Given the description of an element on the screen output the (x, y) to click on. 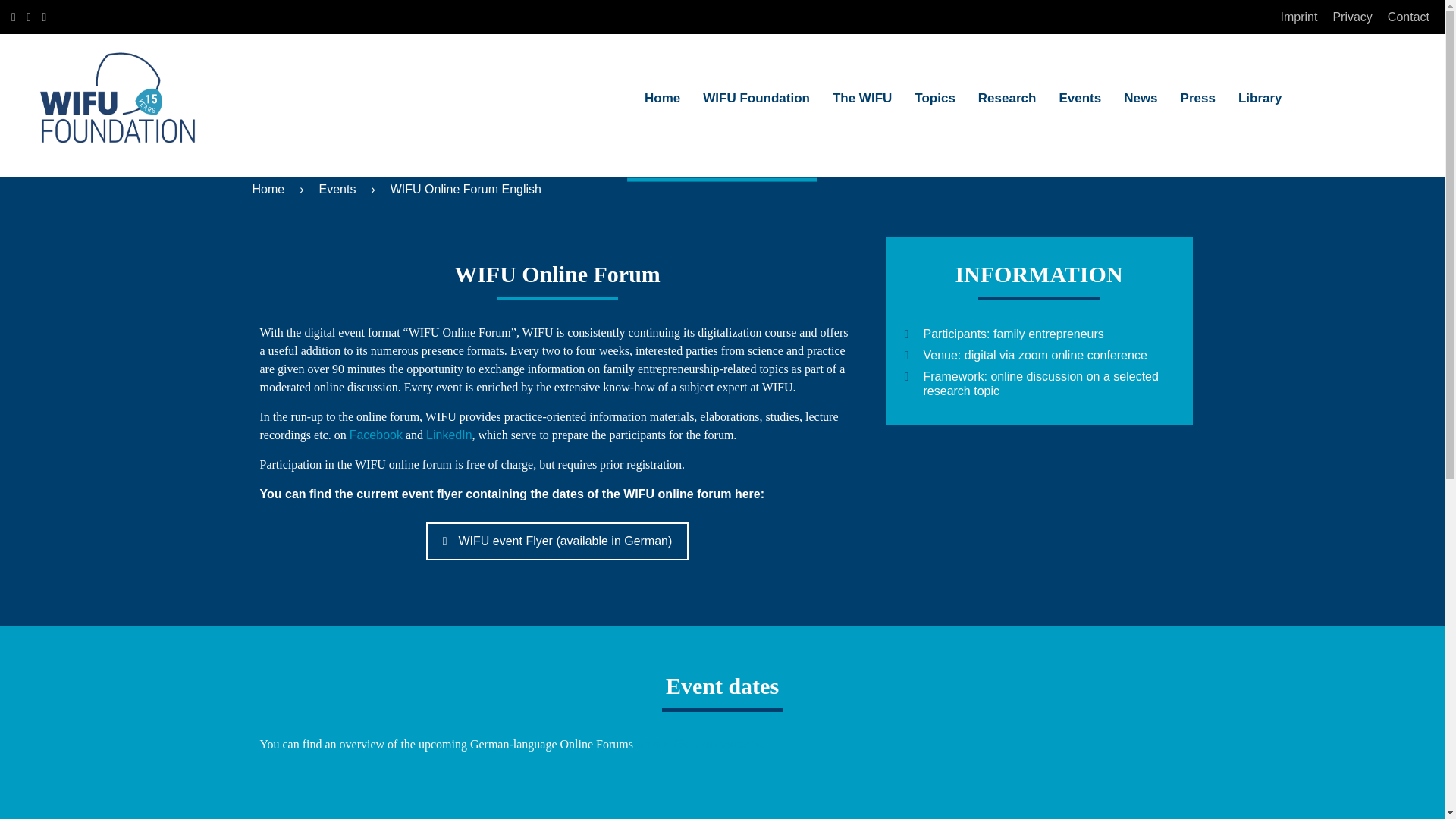
Home (662, 98)
Topics (934, 98)
News (1139, 98)
Contact (1408, 16)
Imprint (1298, 16)
Privacy (1351, 16)
Research (1007, 98)
WIFU Foundation (756, 98)
Go to WIFU Online Forum English. (465, 188)
Events (1079, 98)
